Given the description of an element on the screen output the (x, y) to click on. 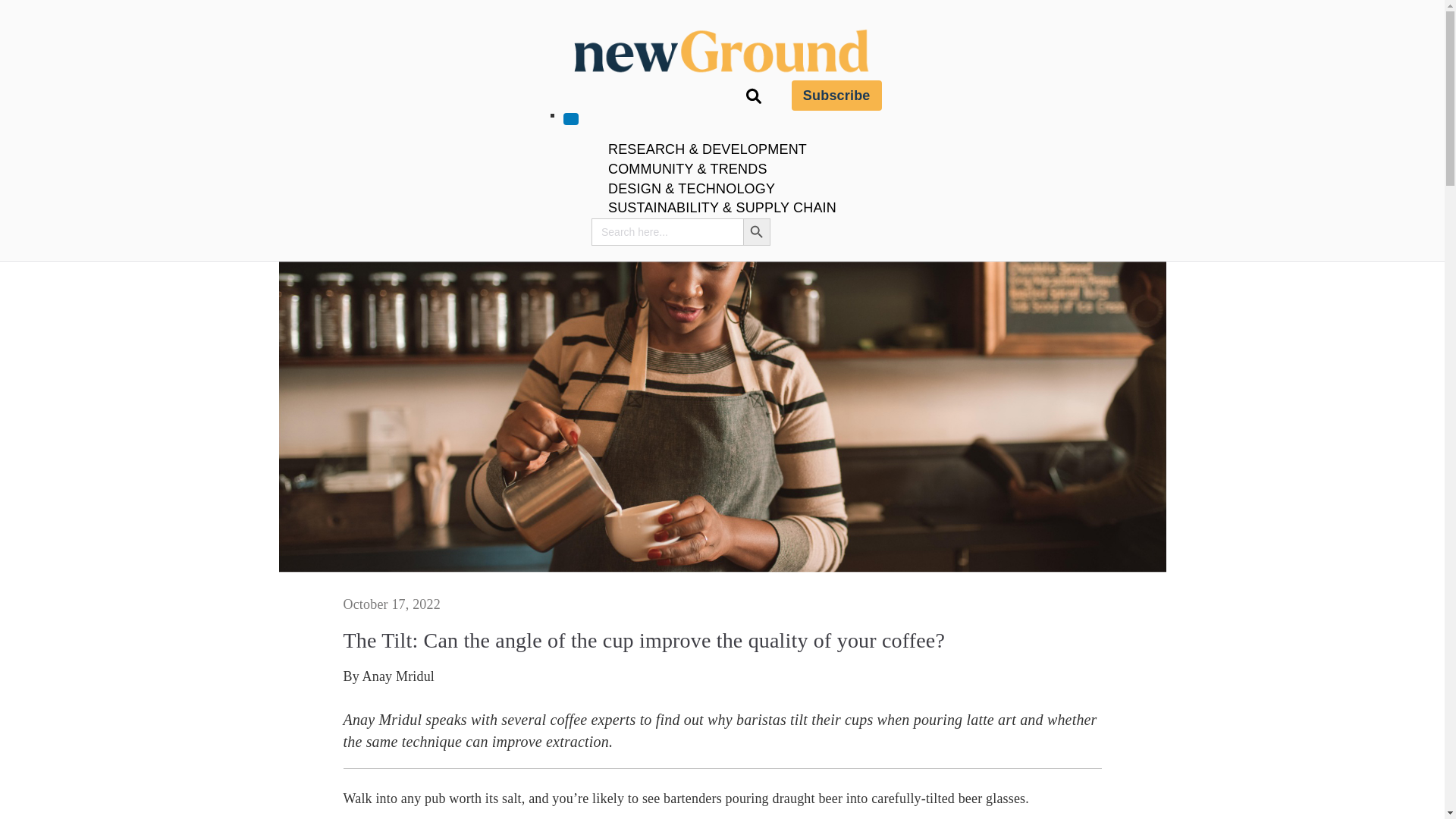
New Ground (813, 105)
Search Button (756, 231)
Subscribe (837, 95)
